Given the description of an element on the screen output the (x, y) to click on. 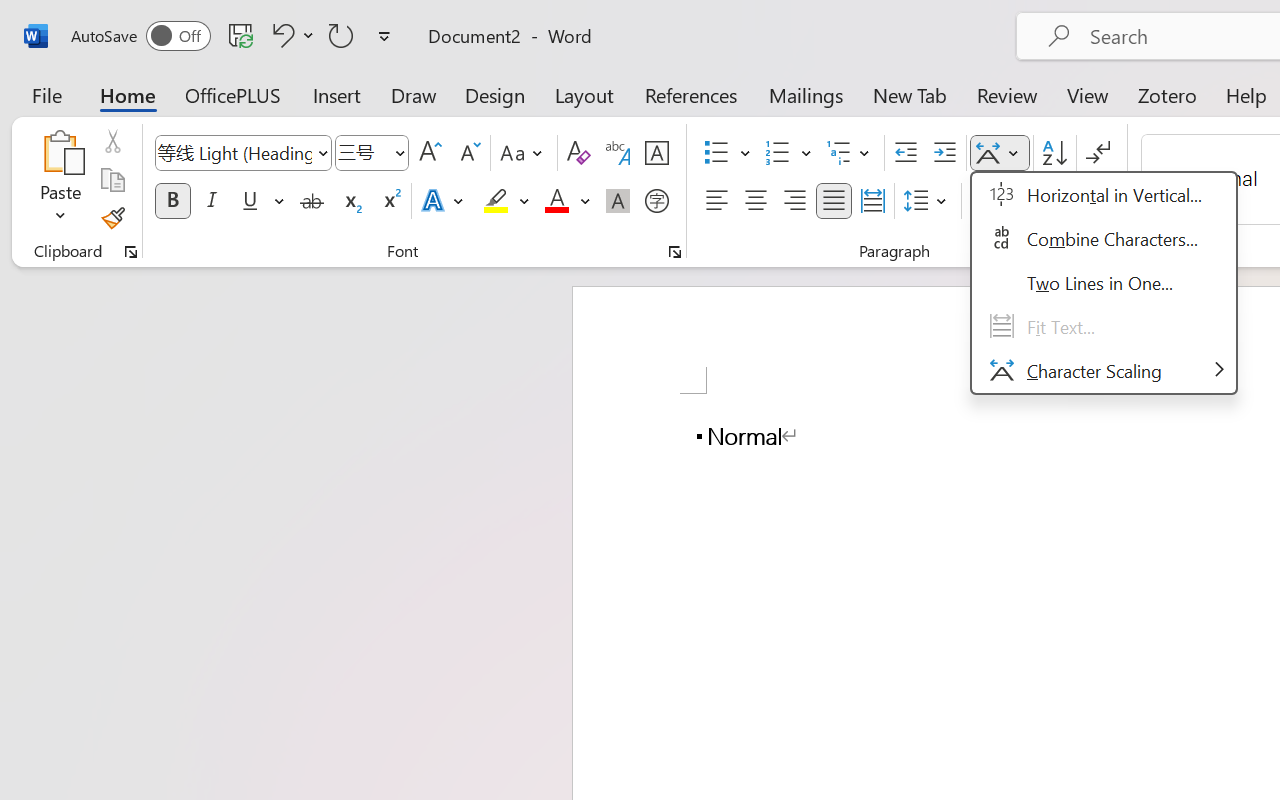
Align Left (716, 201)
Draw (413, 94)
Layout (584, 94)
Increase Indent (944, 153)
Office Clipboard... (131, 252)
Italic (212, 201)
Customize Quick Access Toolbar (384, 35)
Font... (675, 252)
Distributed (872, 201)
Undo Typing (280, 35)
Underline (261, 201)
Insert (337, 94)
References (690, 94)
Font Size (372, 153)
Text Highlight Color (506, 201)
